Given the description of an element on the screen output the (x, y) to click on. 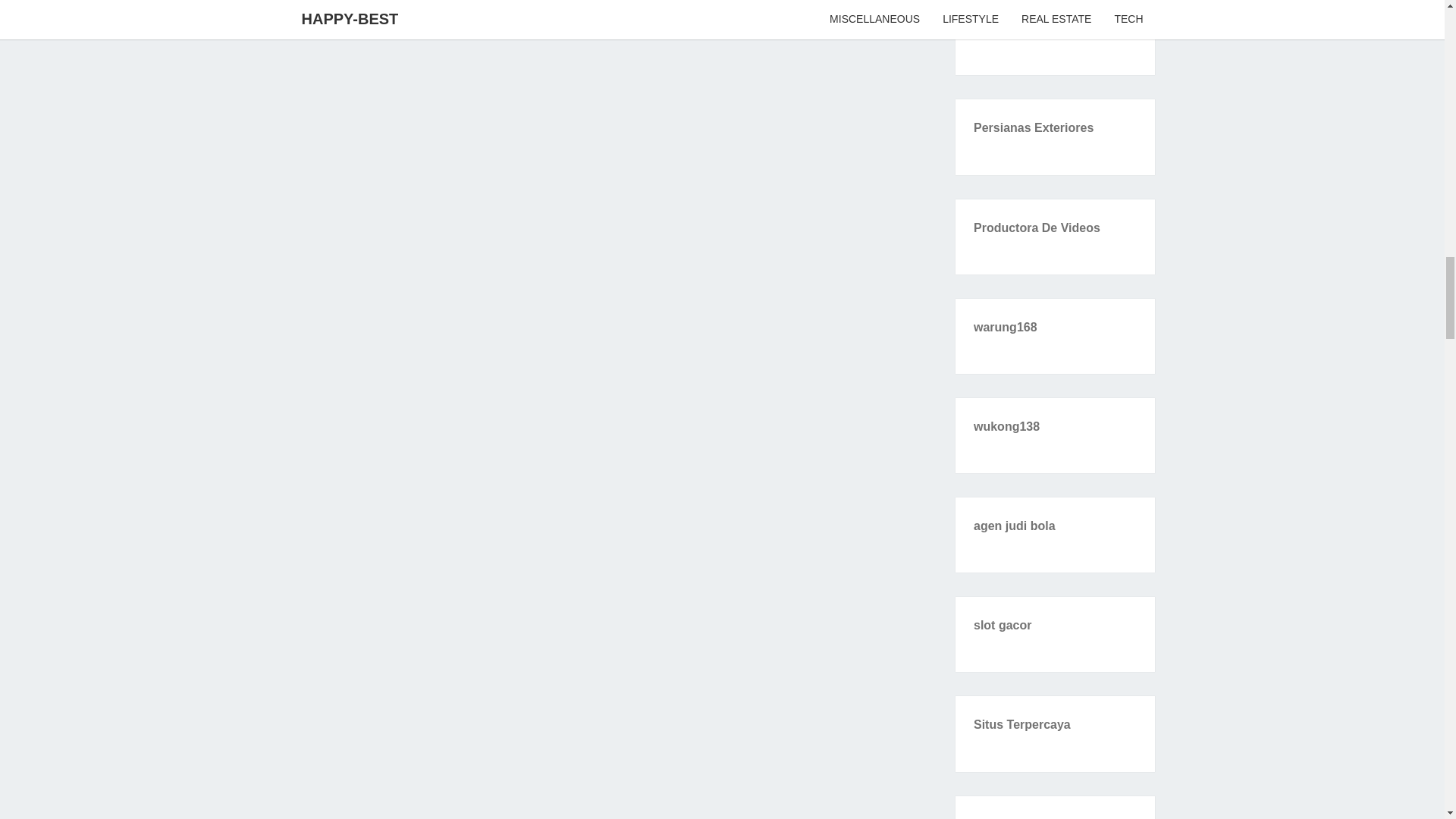
Productora De Videos (1037, 227)
Persianas Exteriores (1033, 127)
wukong138 (1006, 426)
warung168 (1005, 327)
